Given the description of an element on the screen output the (x, y) to click on. 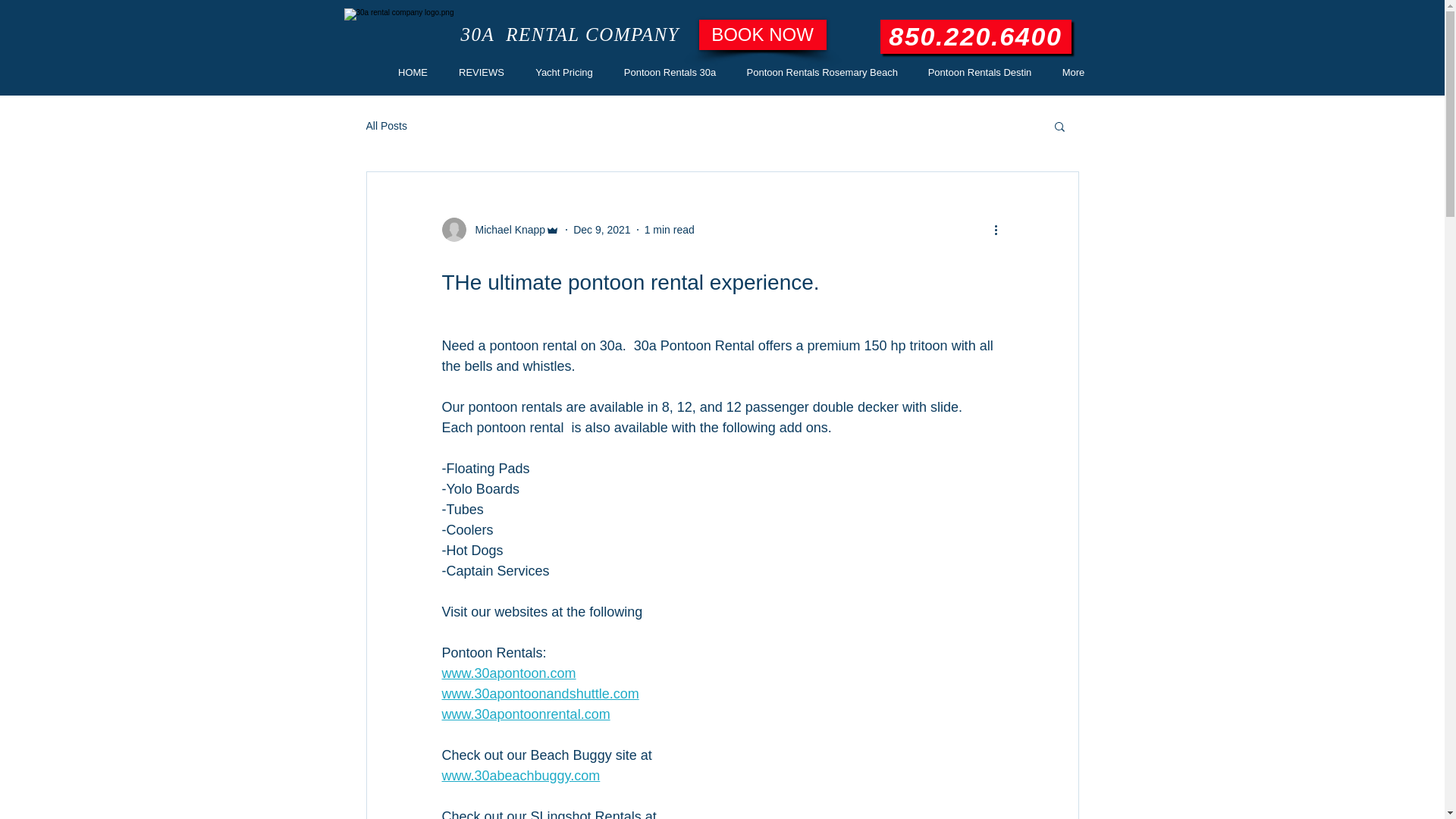
All Posts Element type: text (385, 125)
BOOK NOW Element type: text (762, 34)
HOME Element type: text (412, 72)
Pontoon Rentals 30a Element type: text (669, 72)
850.220.6400 Element type: text (974, 36)
www.30abeachbuggy.com Element type: text (520, 775)
www.30apontoonandshuttle.com Element type: text (539, 693)
Pontoon Rentals Rosemary Beach Element type: text (821, 72)
www.30apontoon.com Element type: text (508, 672)
Michael Knapp Element type: text (500, 229)
Pontoon Rentals Destin Element type: text (980, 72)
30A  RENTAL COMPANY Element type: text (570, 34)
REVIEWS Element type: text (480, 72)
Yacht Pricing Element type: text (564, 72)
www.30apontoonrental.com Element type: text (525, 713)
